Given the description of an element on the screen output the (x, y) to click on. 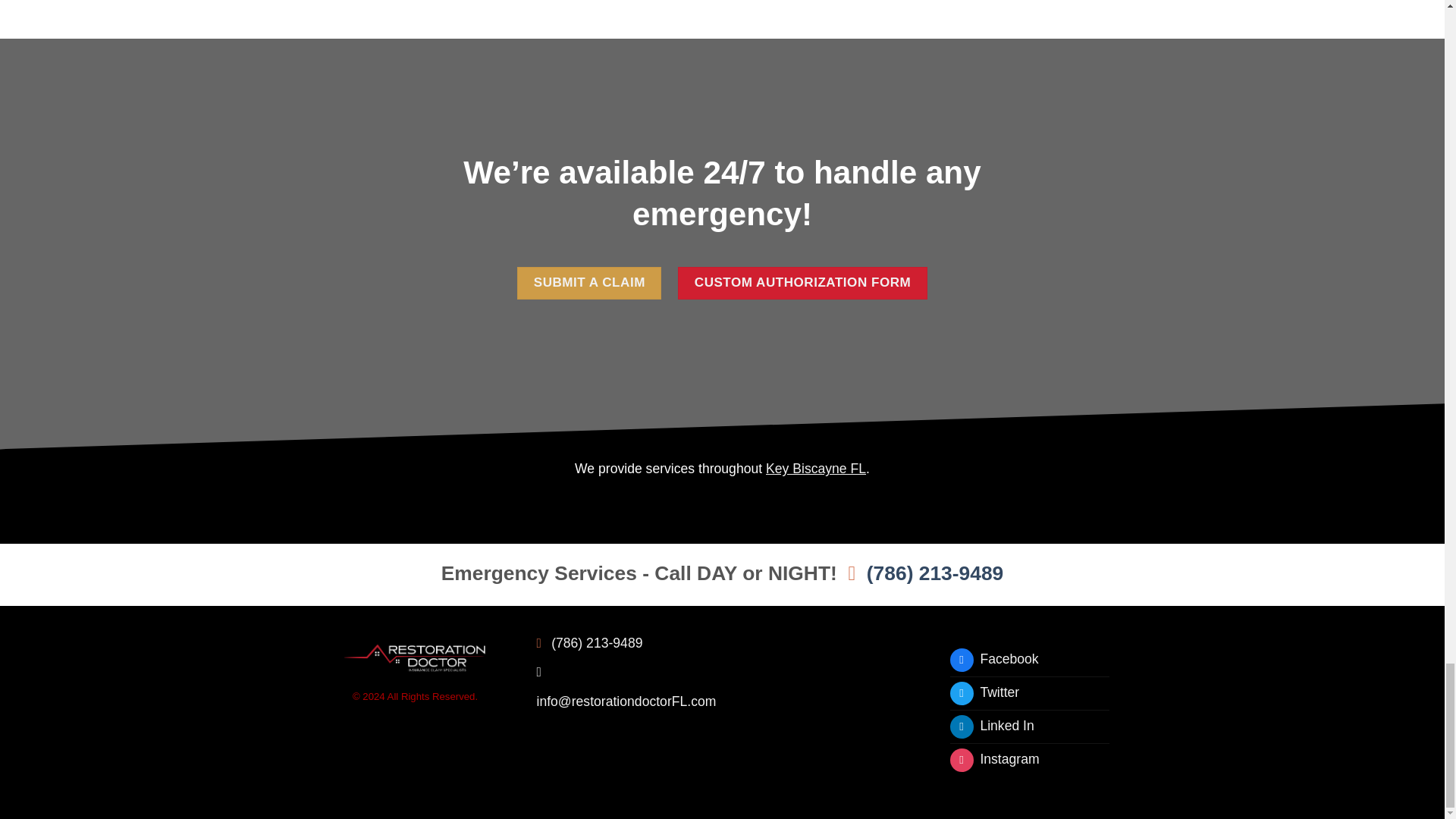
Twitter (984, 693)
Instagram (994, 759)
Key Biscayne FL (815, 468)
Linked In (991, 726)
Facebook (993, 659)
Instagram (994, 759)
Twitter (984, 693)
SUBMIT A CLAIM (588, 282)
CUSTOM AUTHORIZATION FORM (802, 282)
Facebook (993, 659)
